Given the description of an element on the screen output the (x, y) to click on. 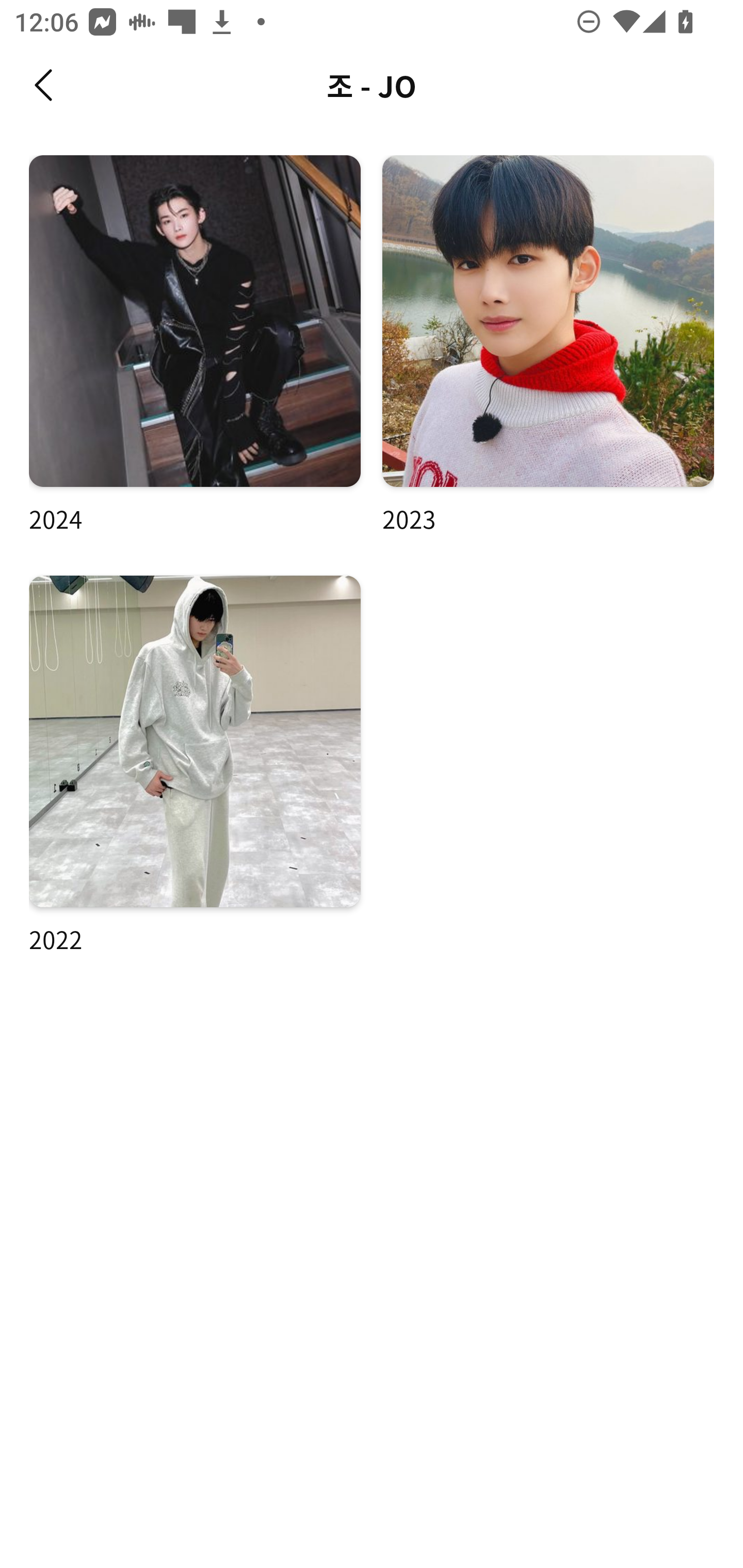
2024 (194, 345)
2023 (548, 345)
2022 (194, 765)
